Given the description of an element on the screen output the (x, y) to click on. 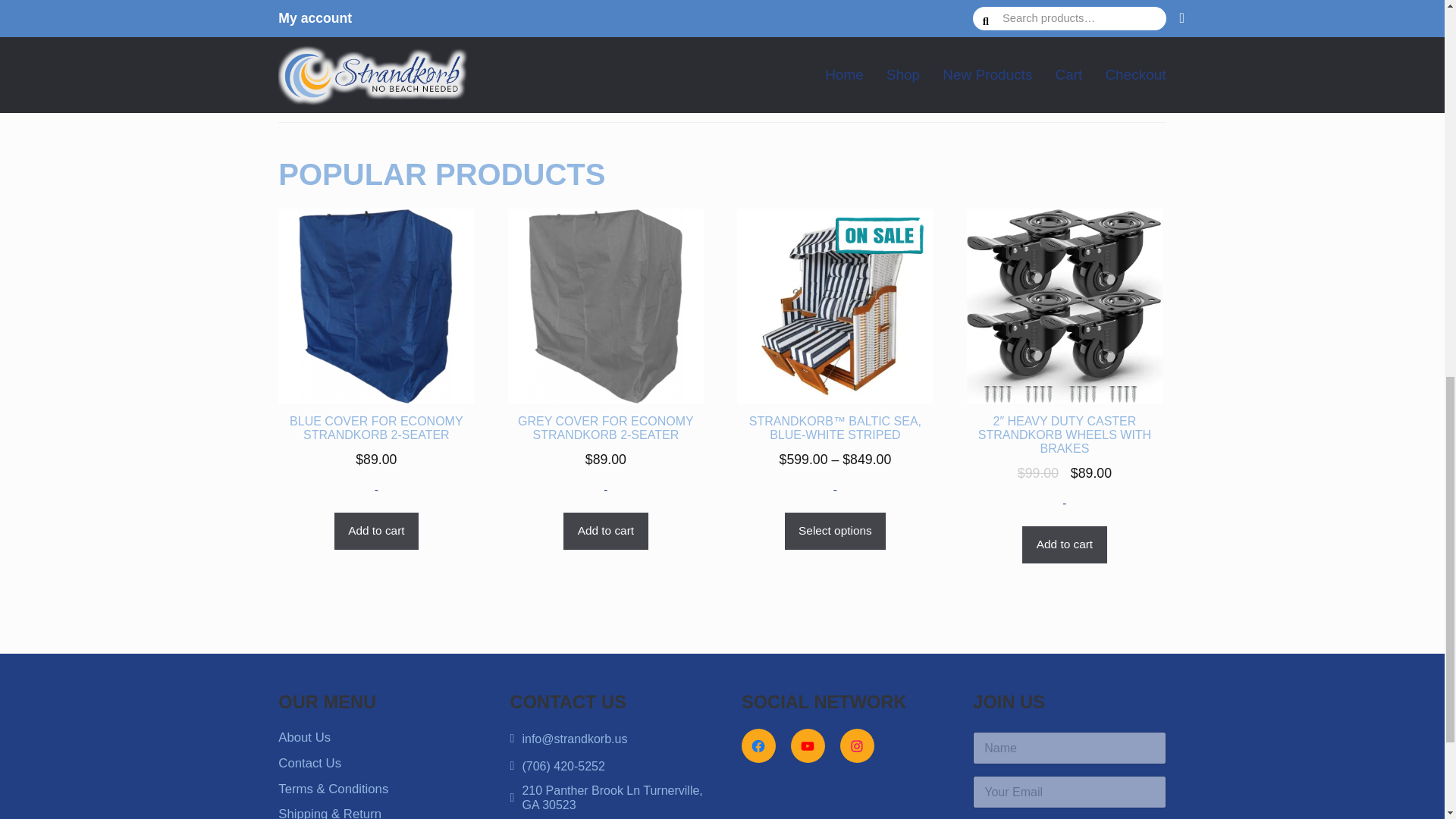
Contact Us (309, 762)
Add to cart (376, 531)
Select options (835, 531)
Add to cart (605, 531)
Add to cart (1064, 545)
Add to cart (605, 51)
Add to cart (374, 64)
About Us (304, 737)
